Given the description of an element on the screen output the (x, y) to click on. 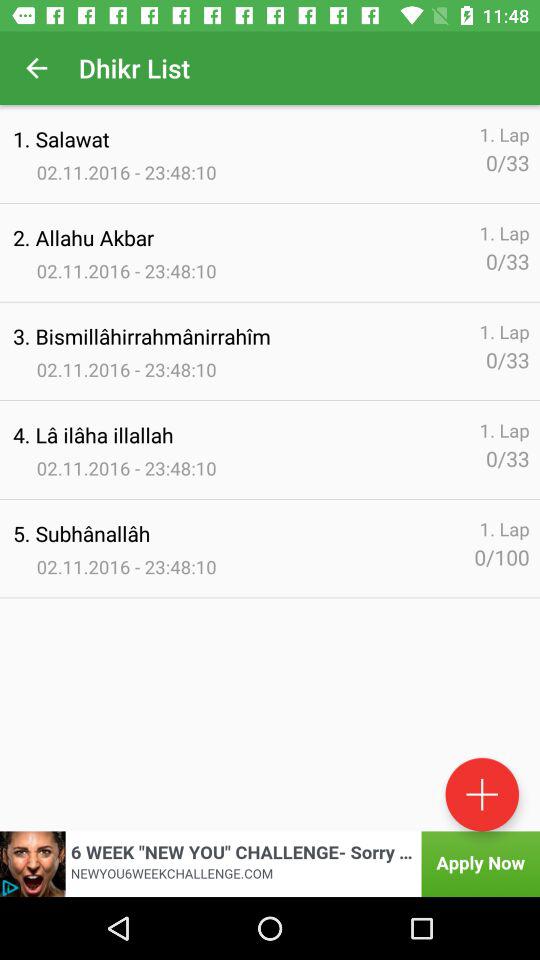
launch the item below 0/100 item (482, 794)
